Given the description of an element on the screen output the (x, y) to click on. 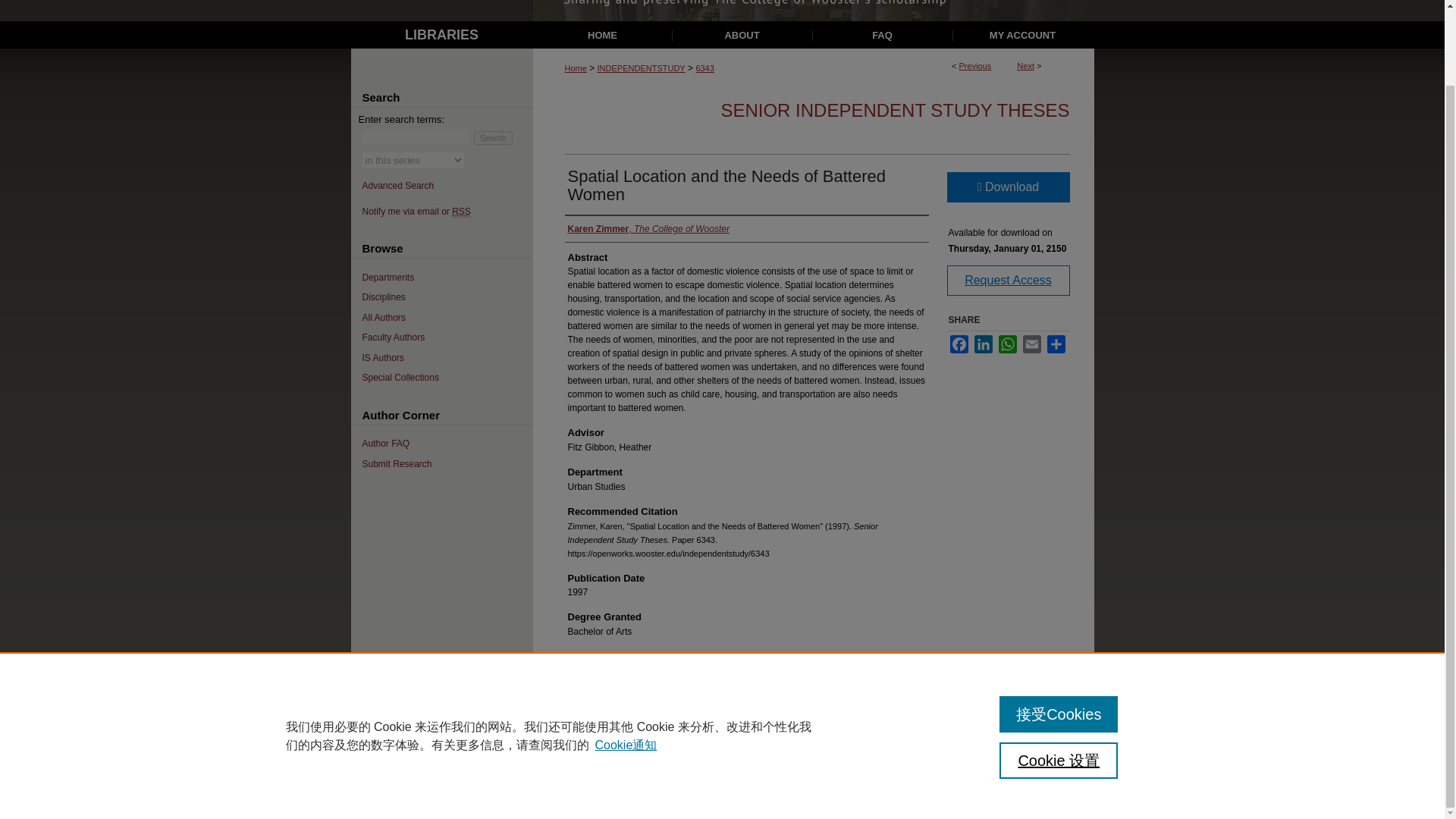
INDEPENDENTSTUDY (640, 67)
Spatial Location and the Needs of Battered Women (726, 185)
Email or RSS Notifications (447, 213)
ABOUT (741, 35)
Departments (447, 278)
FAQ (882, 35)
Home (575, 67)
Request Access (1007, 280)
College of Wooster Libraries (441, 34)
HOME (603, 35)
LinkedIn (982, 343)
6343 (704, 67)
WhatsApp (1006, 343)
Download (1007, 186)
Search (493, 137)
